Given the description of an element on the screen output the (x, y) to click on. 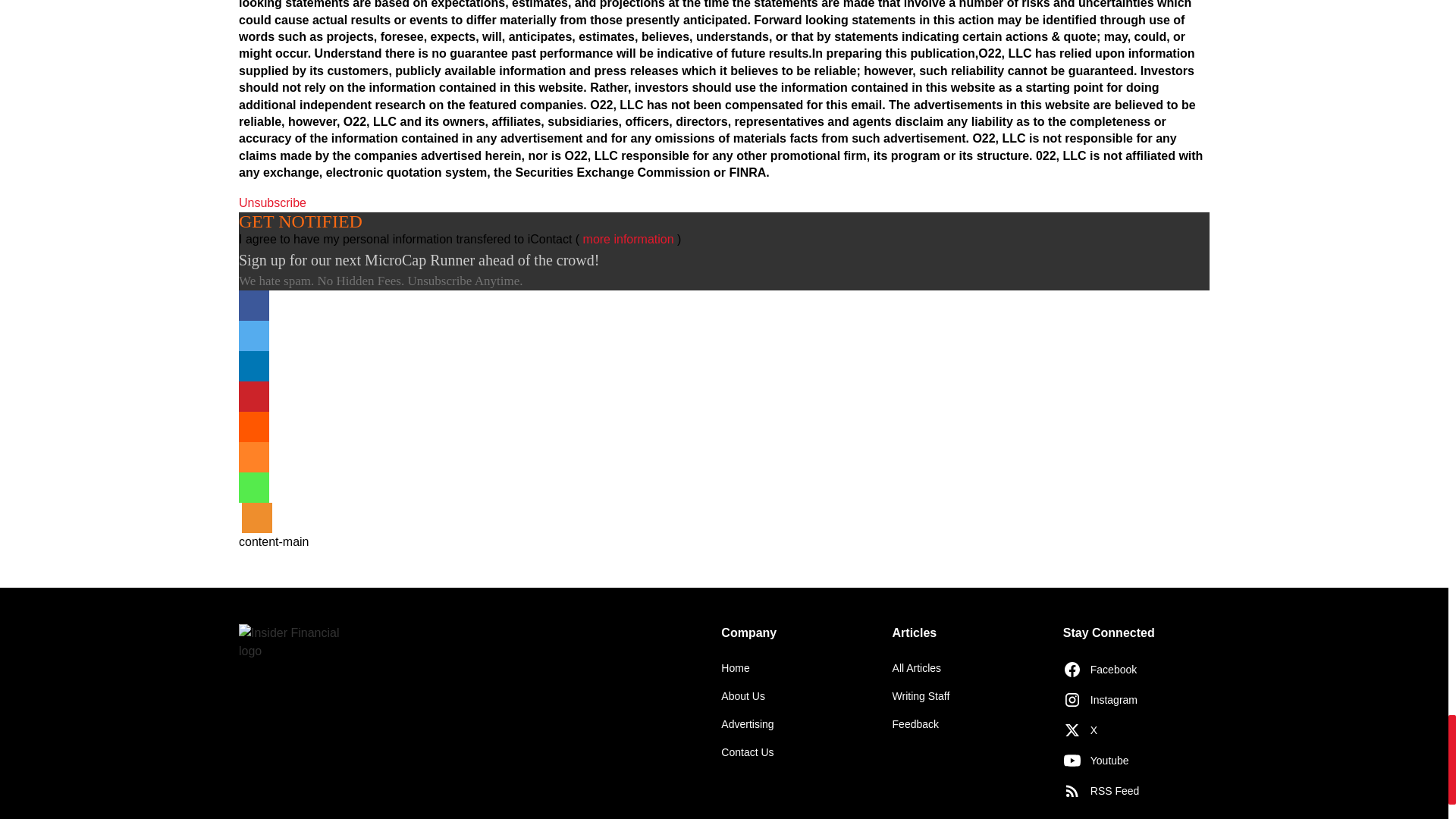
More (256, 517)
Mix (253, 457)
Unsubscribe (271, 202)
Reddit (253, 426)
Linkedin (253, 366)
Whatsapp (253, 487)
Pinterest (253, 396)
more information (628, 238)
Twitter (253, 336)
Facebook (253, 305)
